Given the description of an element on the screen output the (x, y) to click on. 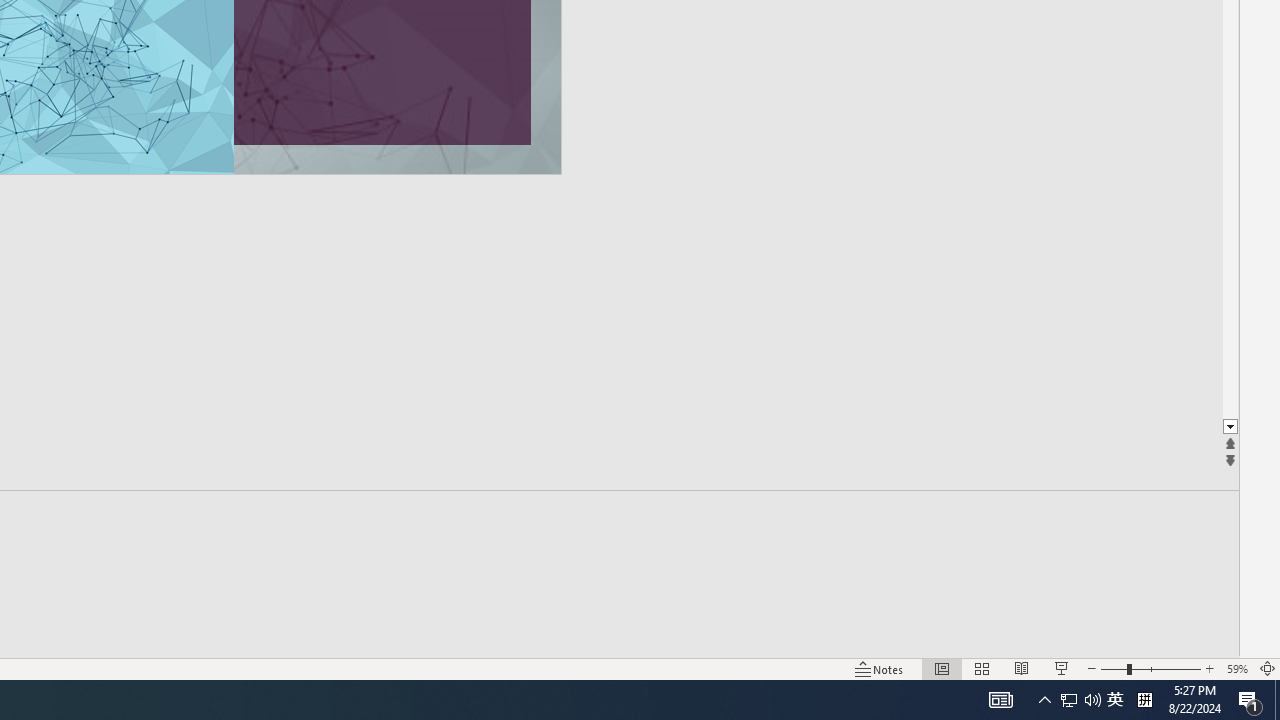
Zoom 59% (1236, 668)
